Given the description of an element on the screen output the (x, y) to click on. 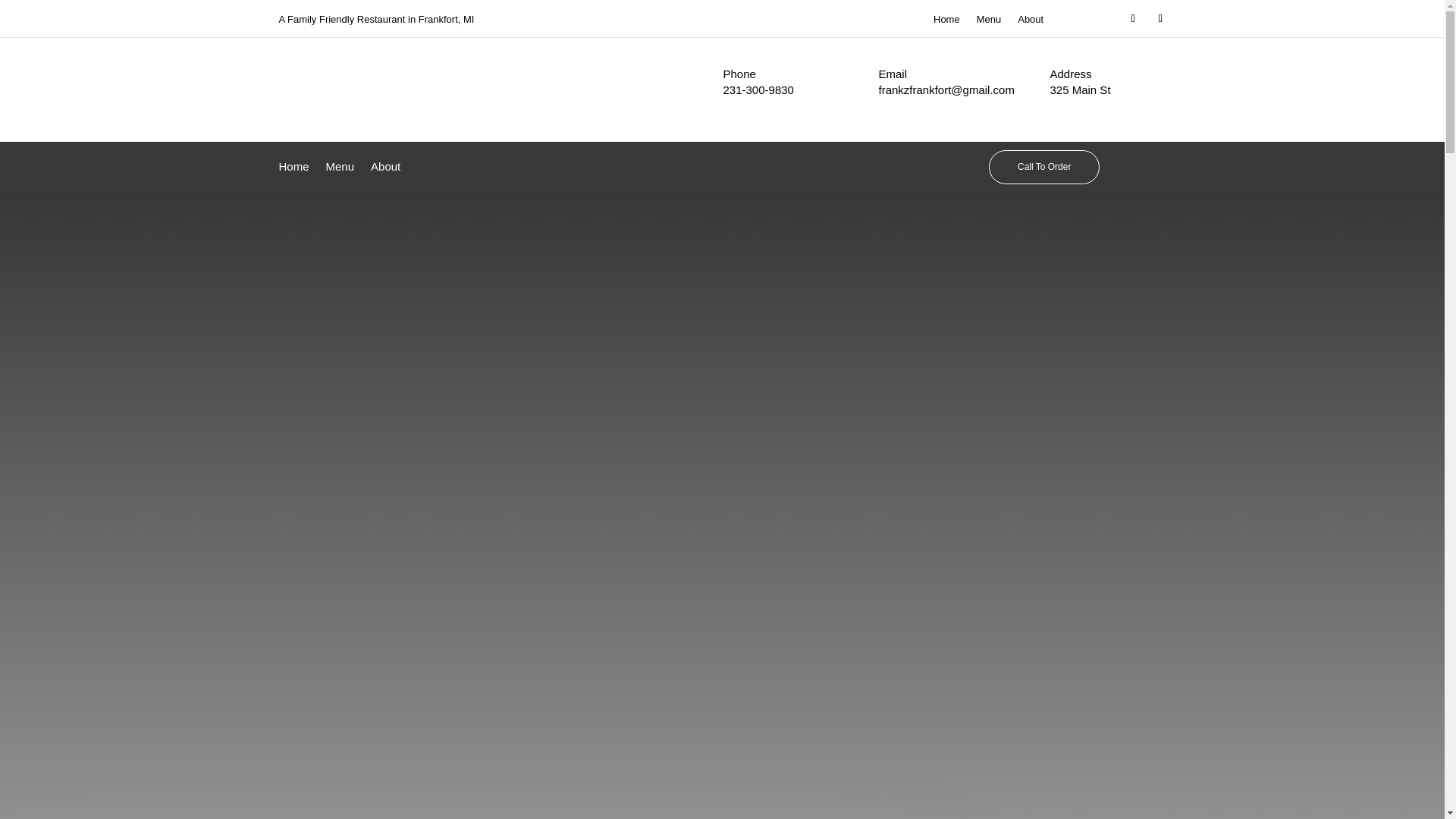
Phone (739, 73)
FrankZ Logo PNG No Background (320, 102)
Email (892, 73)
Home (293, 169)
About (1030, 22)
Call To Order (1043, 166)
Home (946, 22)
About (385, 169)
Menu (988, 22)
Follow on Facebook (1132, 18)
